Given the description of an element on the screen output the (x, y) to click on. 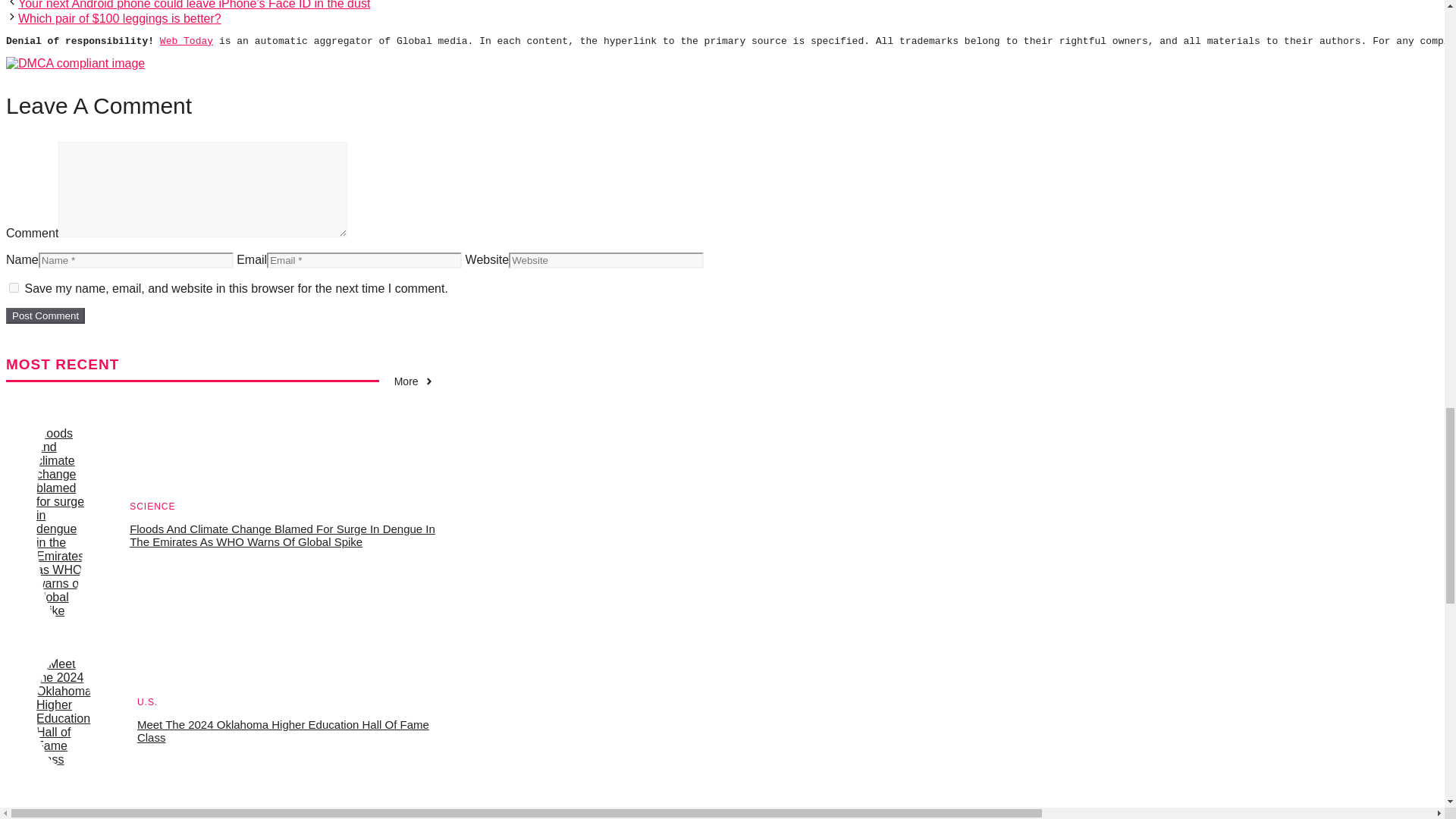
yes (13, 287)
Post Comment (44, 315)
